Given the description of an element on the screen output the (x, y) to click on. 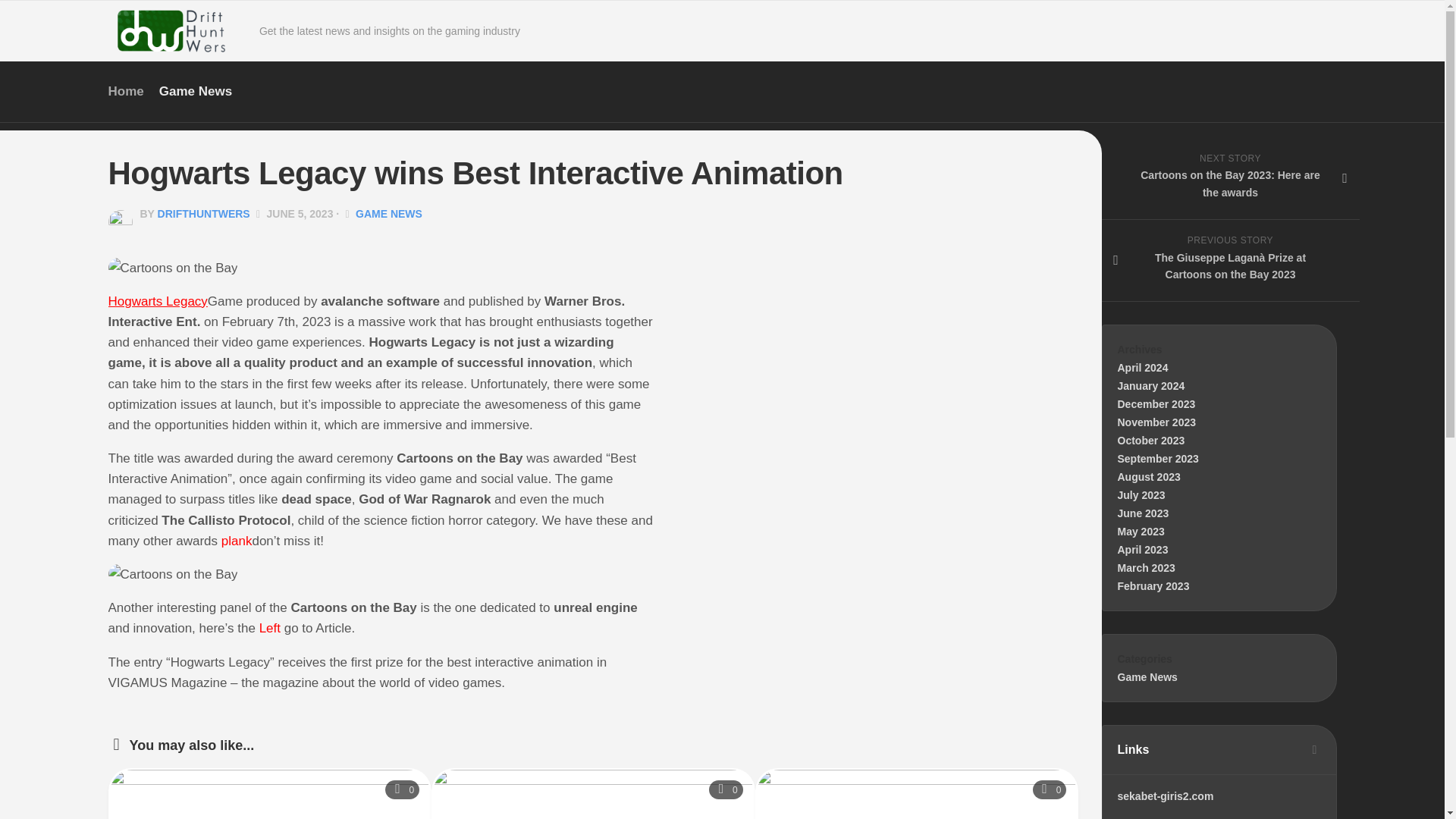
Hogwarts Legacy (156, 301)
Posts by drifthuntwers (203, 214)
Home (1229, 179)
0 (124, 91)
September 2023 (1049, 789)
June 2023 (1158, 458)
November 2023 (1143, 512)
October 2023 (1157, 422)
0 (1151, 440)
